Given the description of an element on the screen output the (x, y) to click on. 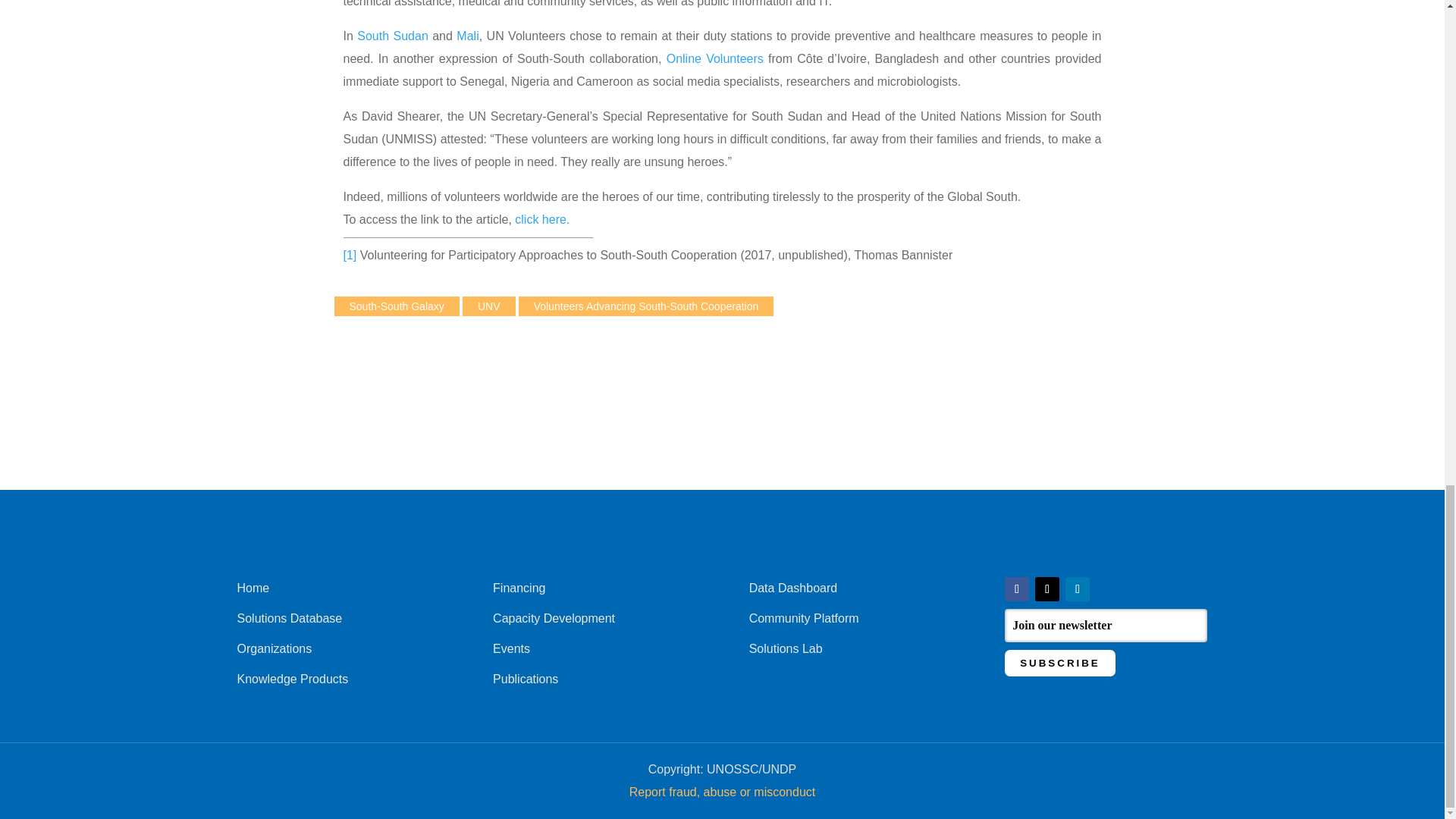
South-South Galaxy (395, 306)
click here. (542, 219)
Follow on X (1047, 589)
Subscribe (1059, 663)
Volunteers Advancing South-South Cooperation (646, 306)
Mali (468, 35)
UNV (489, 306)
Follow on LinkedIn (1077, 589)
Follow on Facebook (1016, 589)
South Sudan (392, 35)
Online Volunteers (717, 58)
